Given the description of an element on the screen output the (x, y) to click on. 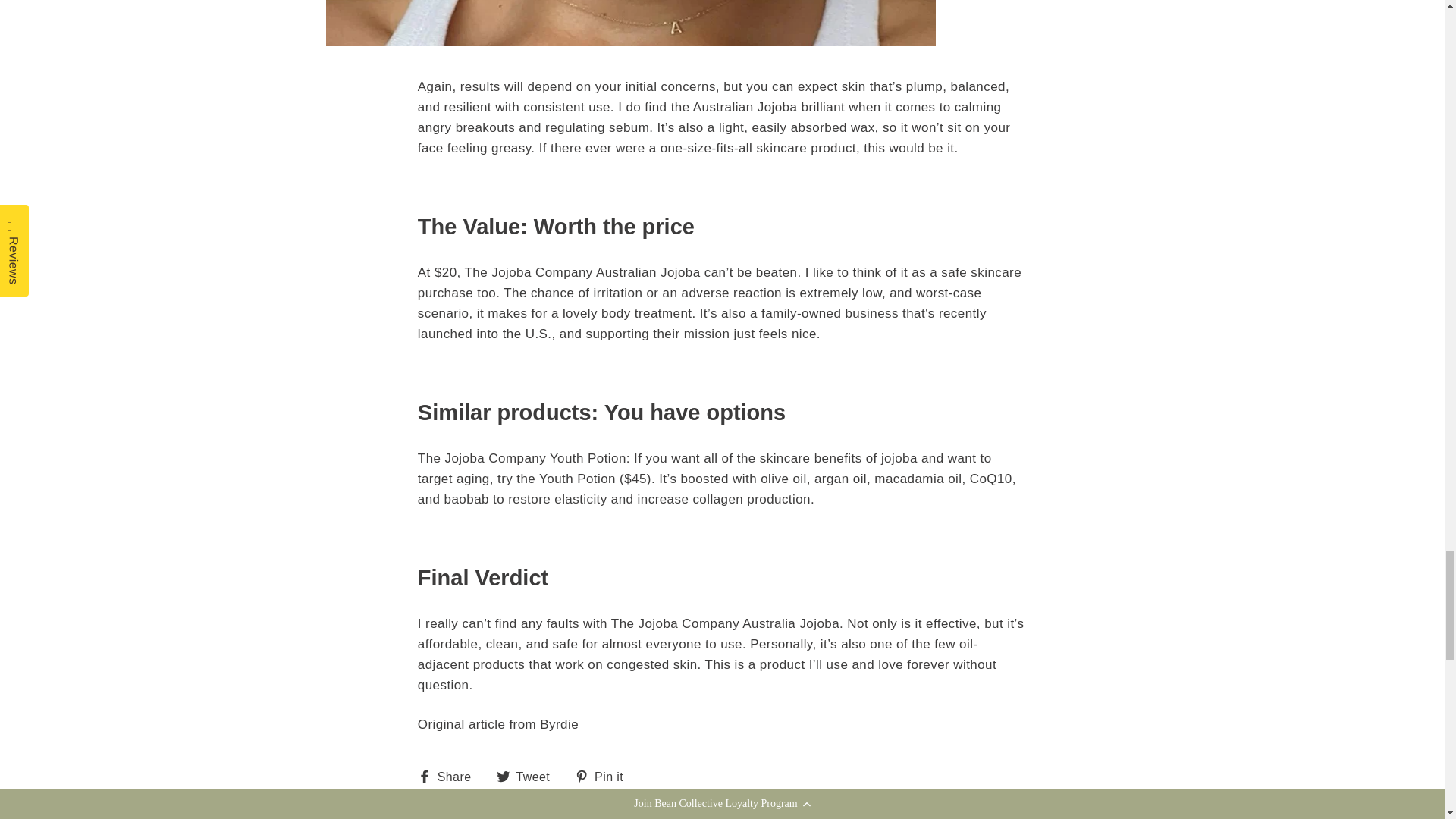
Pin on Pinterest (604, 776)
Tweet on Twitter (529, 776)
Share on Facebook (450, 776)
